Given the description of an element on the screen output the (x, y) to click on. 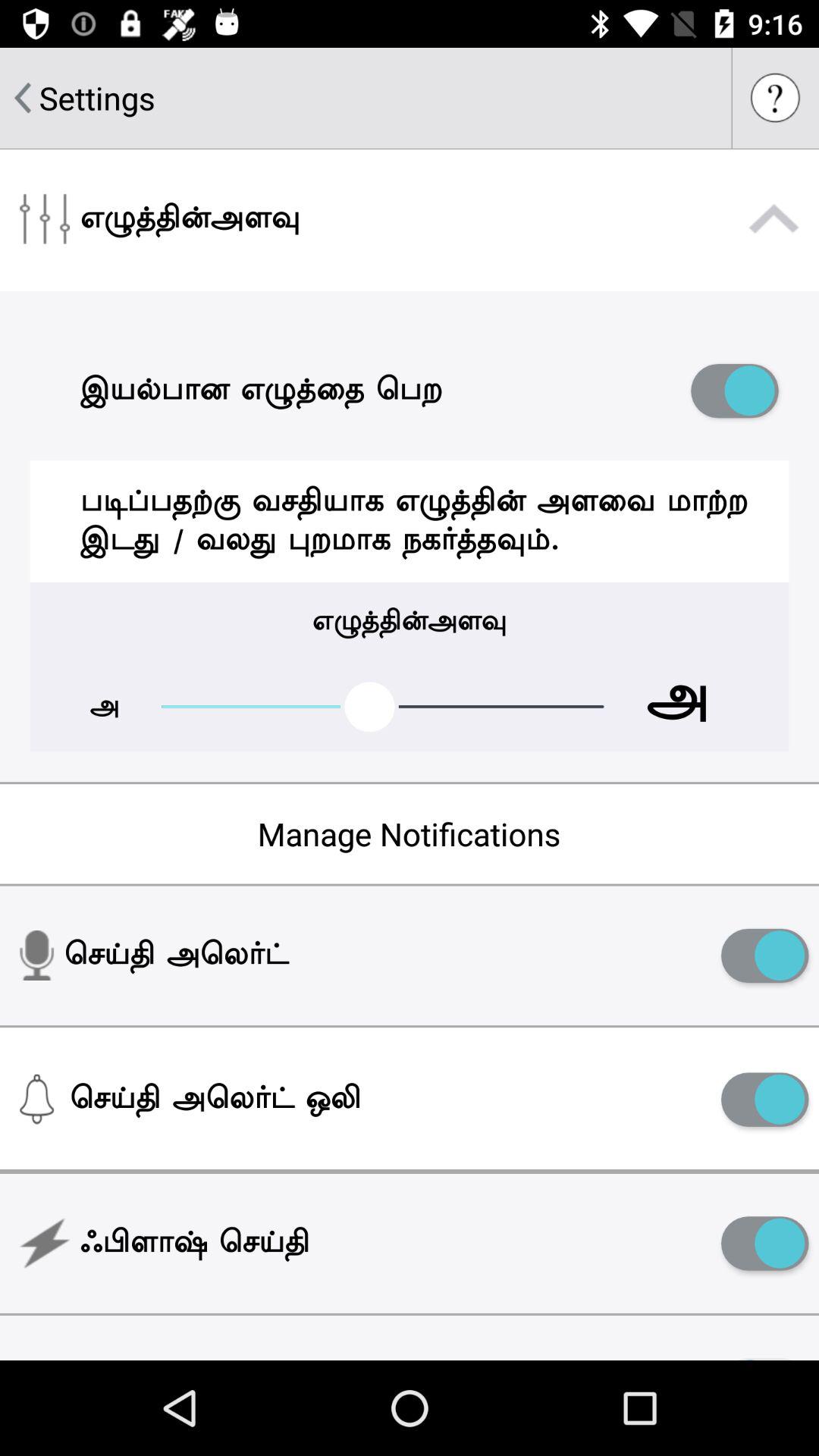
go back (22, 97)
